Given the description of an element on the screen output the (x, y) to click on. 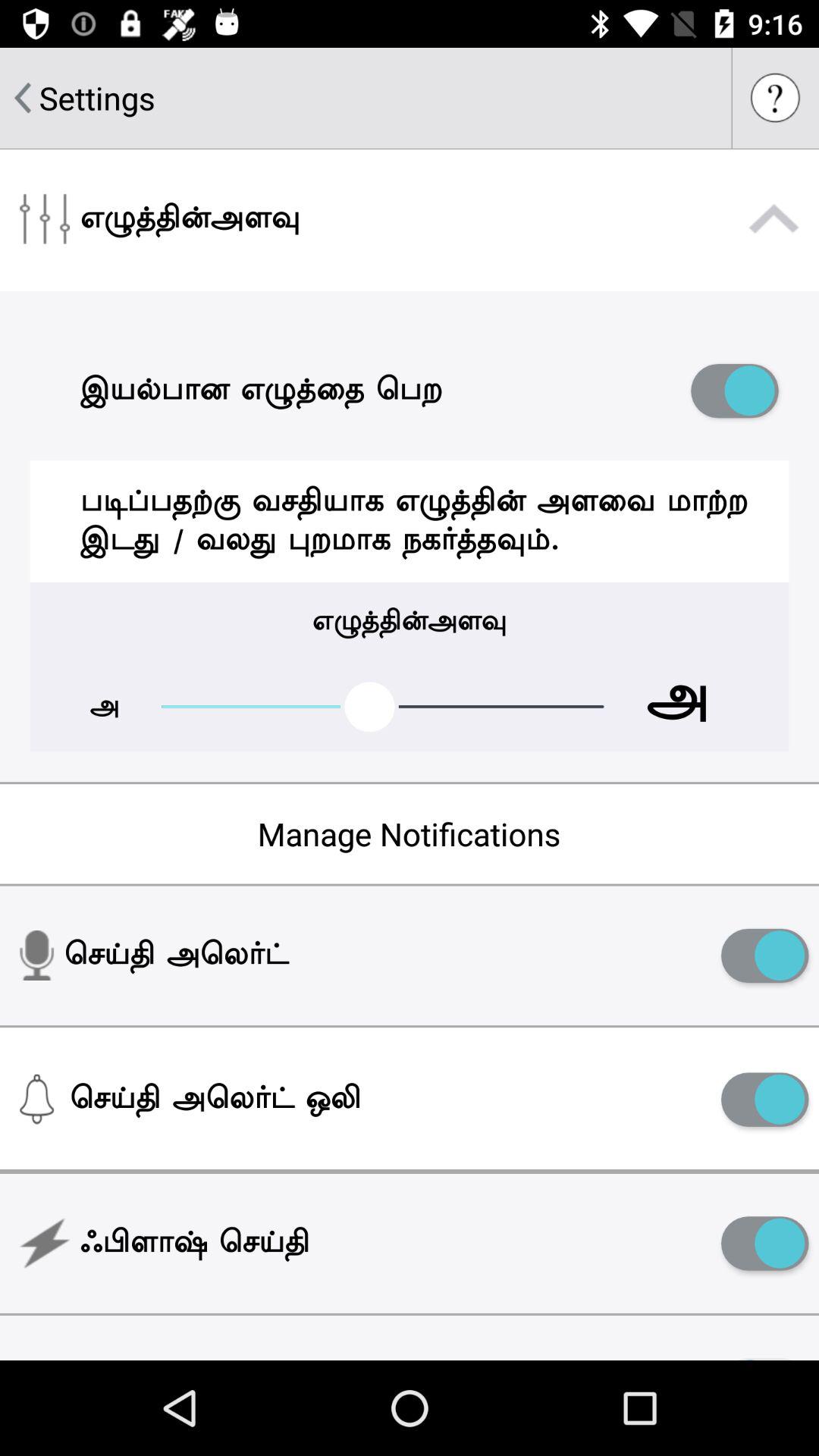
go back (22, 97)
